Given the description of an element on the screen output the (x, y) to click on. 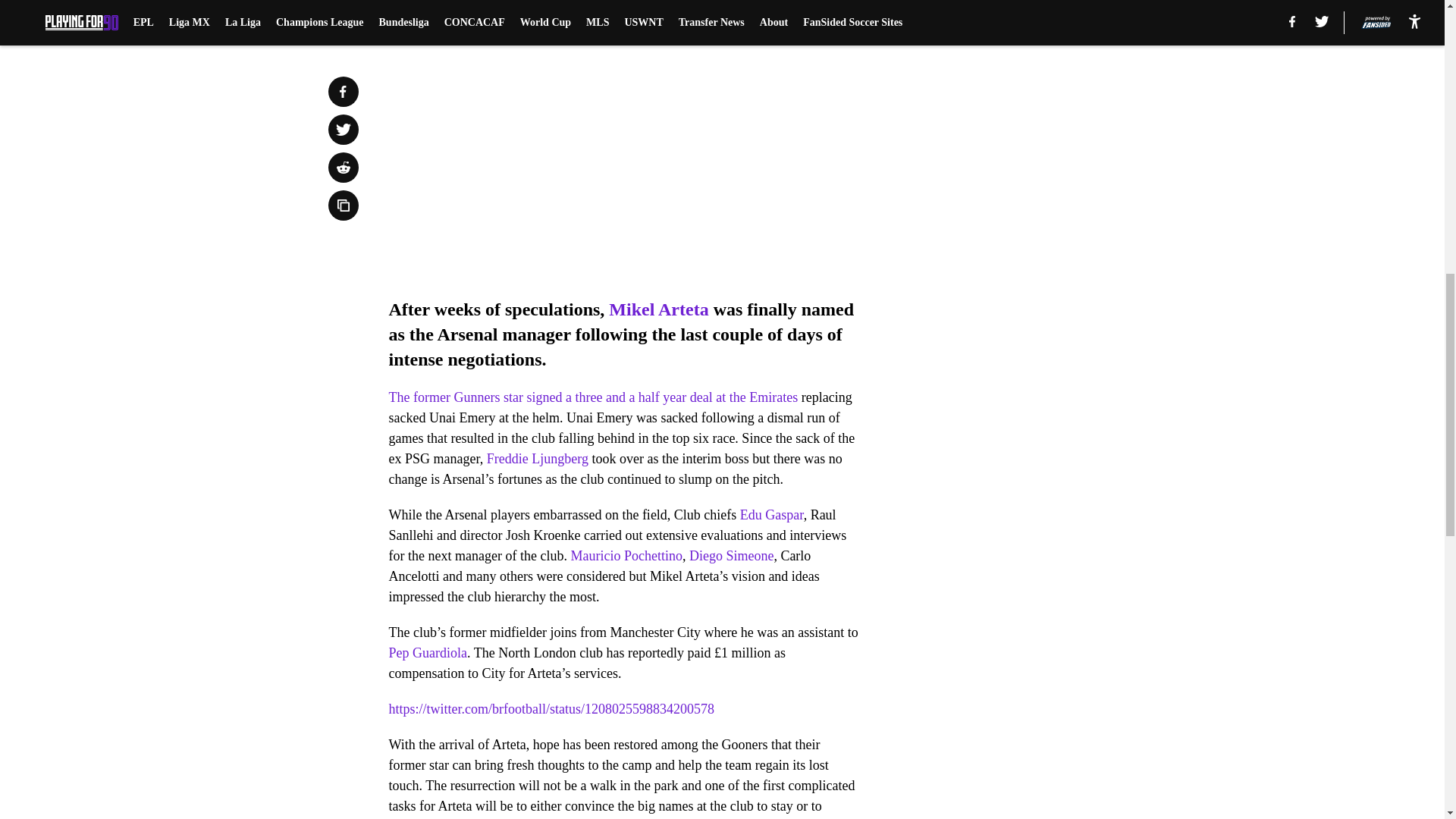
Freddie Ljungberg (537, 458)
Diego Simeone (730, 555)
Edu Gaspar (771, 514)
Pep Guardiola (426, 652)
Mauricio Pochettino (625, 555)
Mikel Arteta (657, 309)
